Given the description of an element on the screen output the (x, y) to click on. 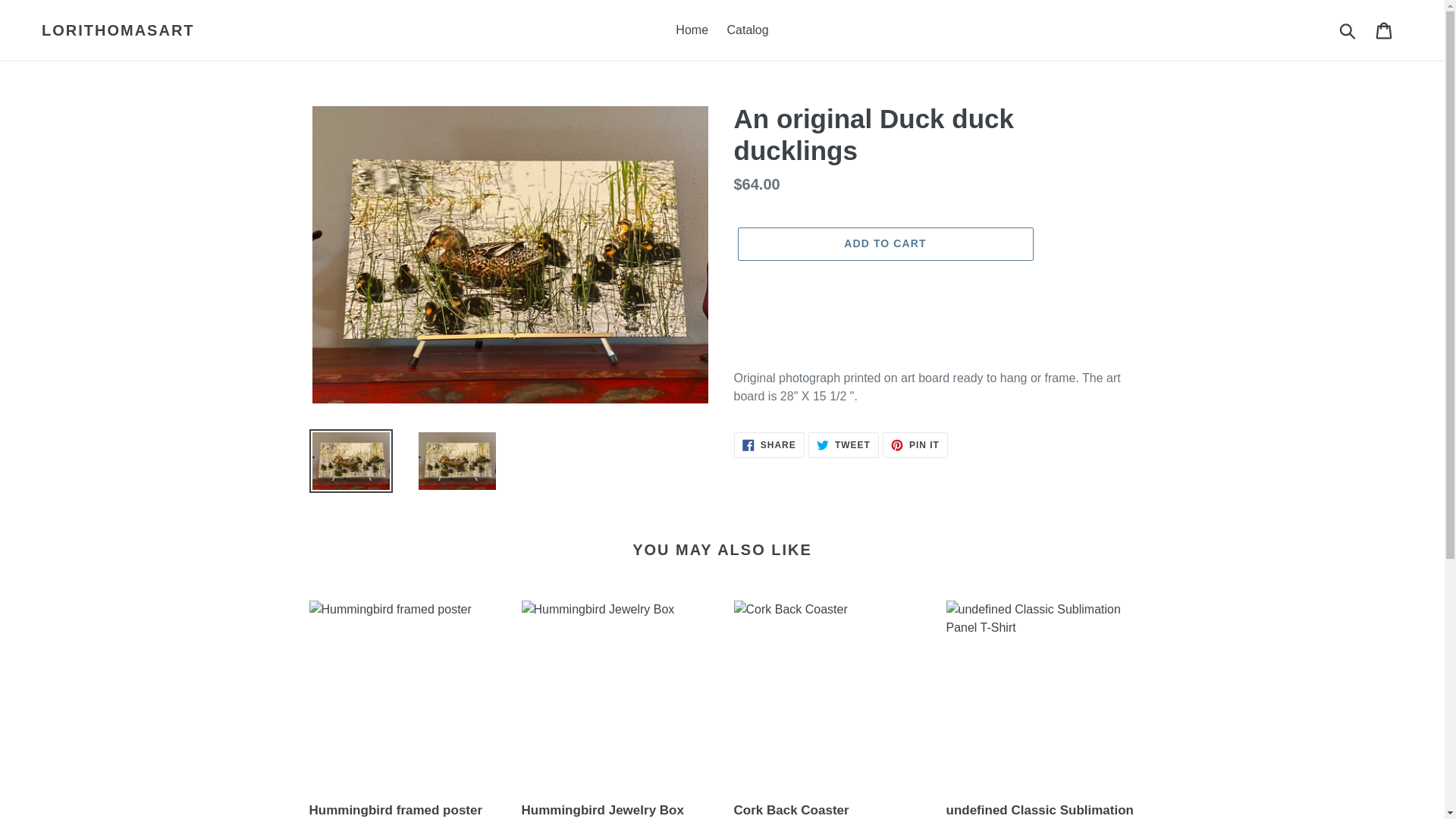
Home (692, 29)
Catalog (914, 444)
Submit (747, 29)
LORITHOMASART (769, 444)
ADD TO CART (1348, 29)
Cart (118, 30)
